Given the description of an element on the screen output the (x, y) to click on. 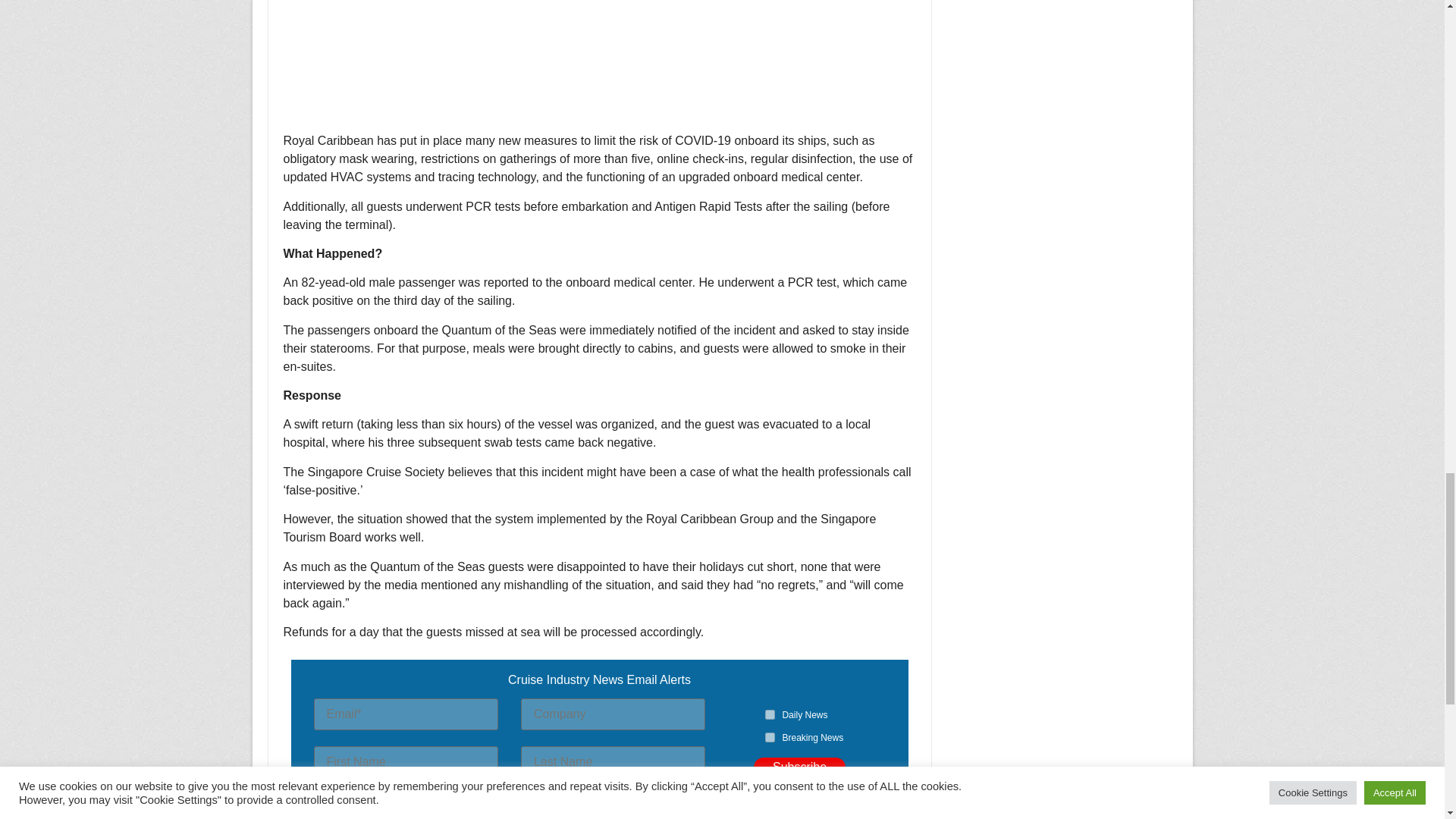
Subscribe (799, 767)
2 (769, 737)
1 (769, 714)
